Given the description of an element on the screen output the (x, y) to click on. 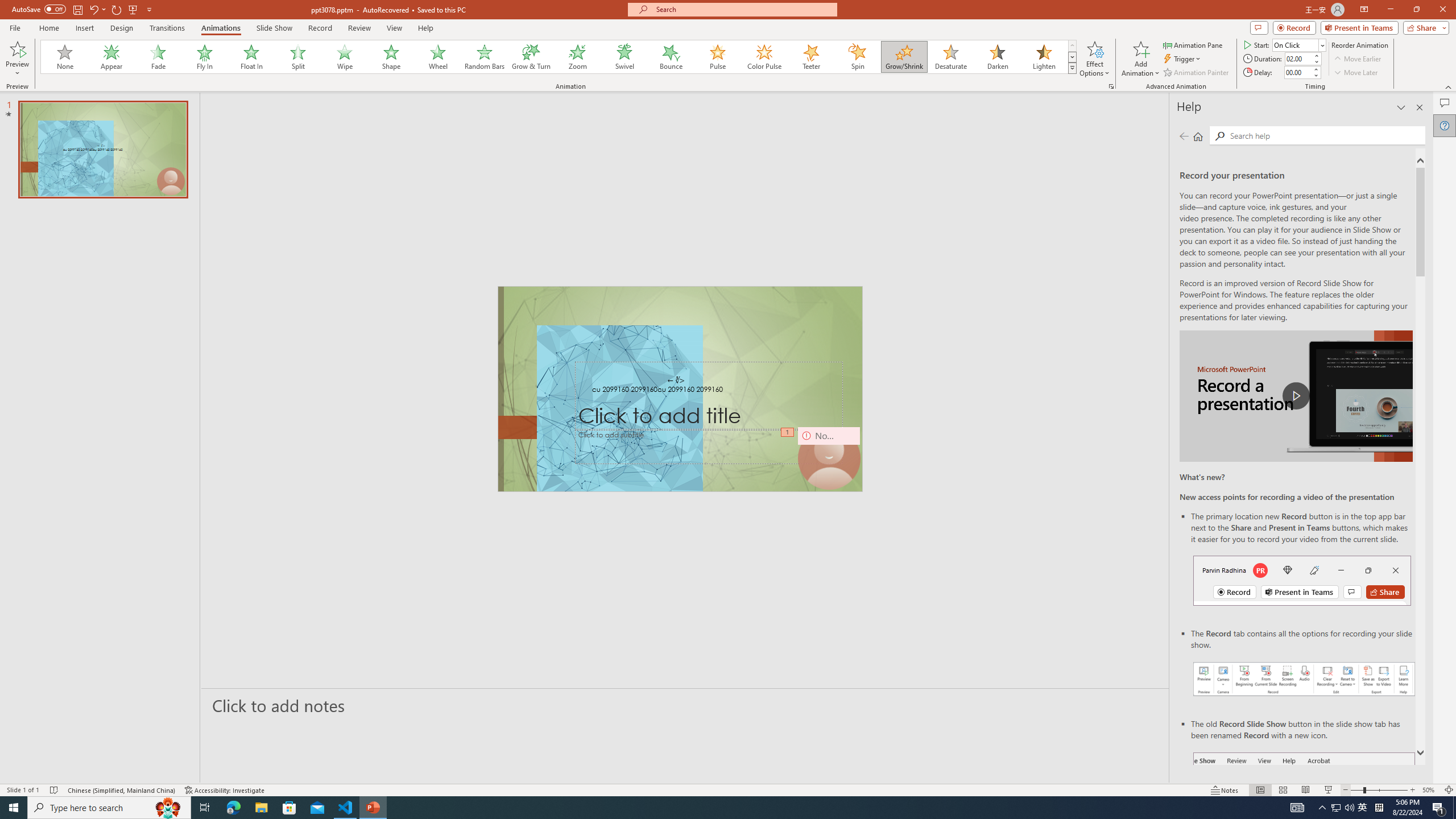
play Record a Presentation (1296, 395)
Spin (857, 56)
Bounce (670, 56)
Animation Styles (1071, 67)
Animation Delay (1297, 72)
